Given the description of an element on the screen output the (x, y) to click on. 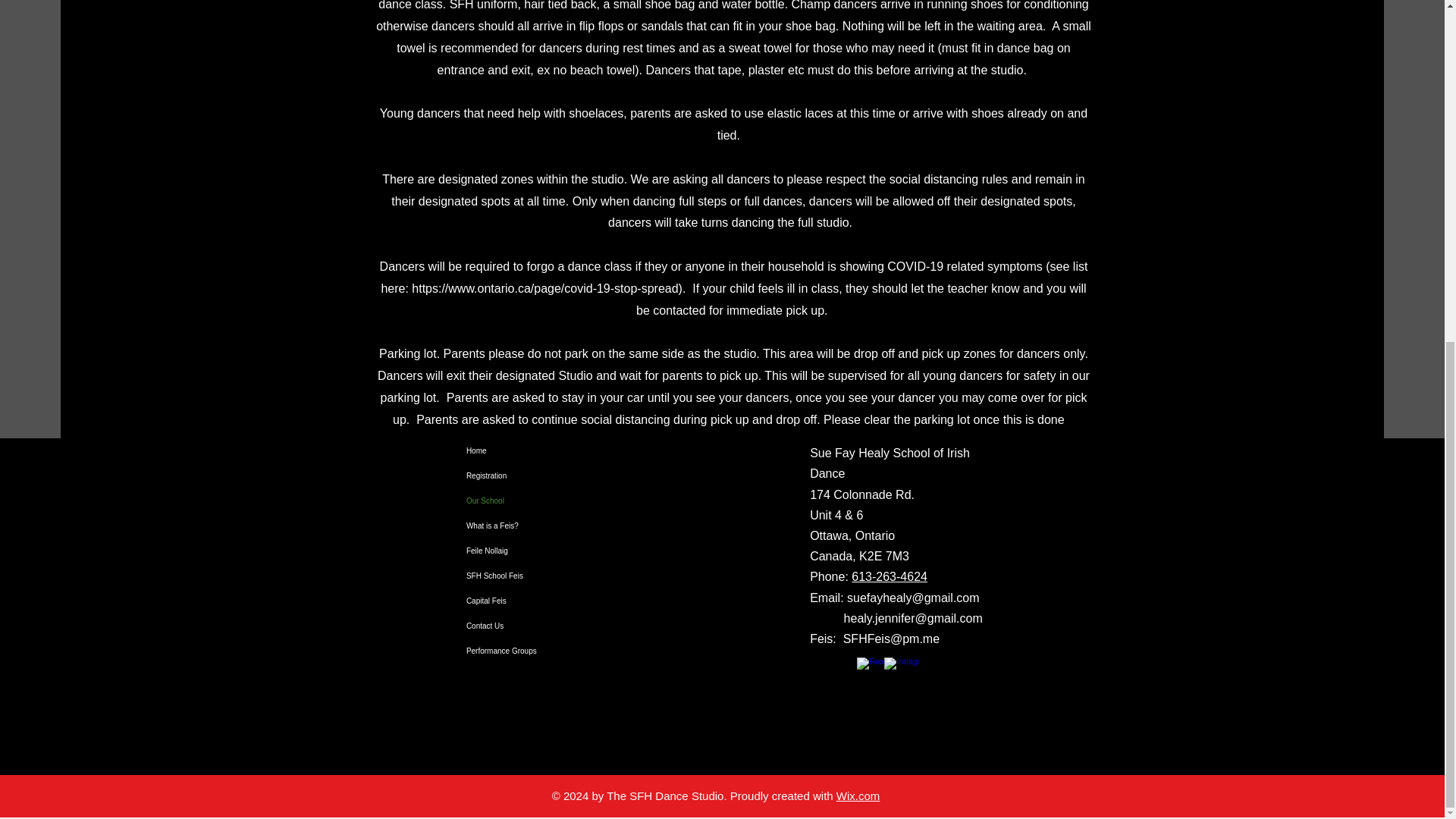
Performance Groups (531, 650)
Wix.com (857, 795)
Contact Us (531, 625)
Our School (531, 500)
What is a Feis? (531, 525)
Feile Nollaig (531, 550)
613-263-4624 (889, 576)
Capital Feis (531, 600)
Registration (531, 475)
Home (531, 450)
